Given the description of an element on the screen output the (x, y) to click on. 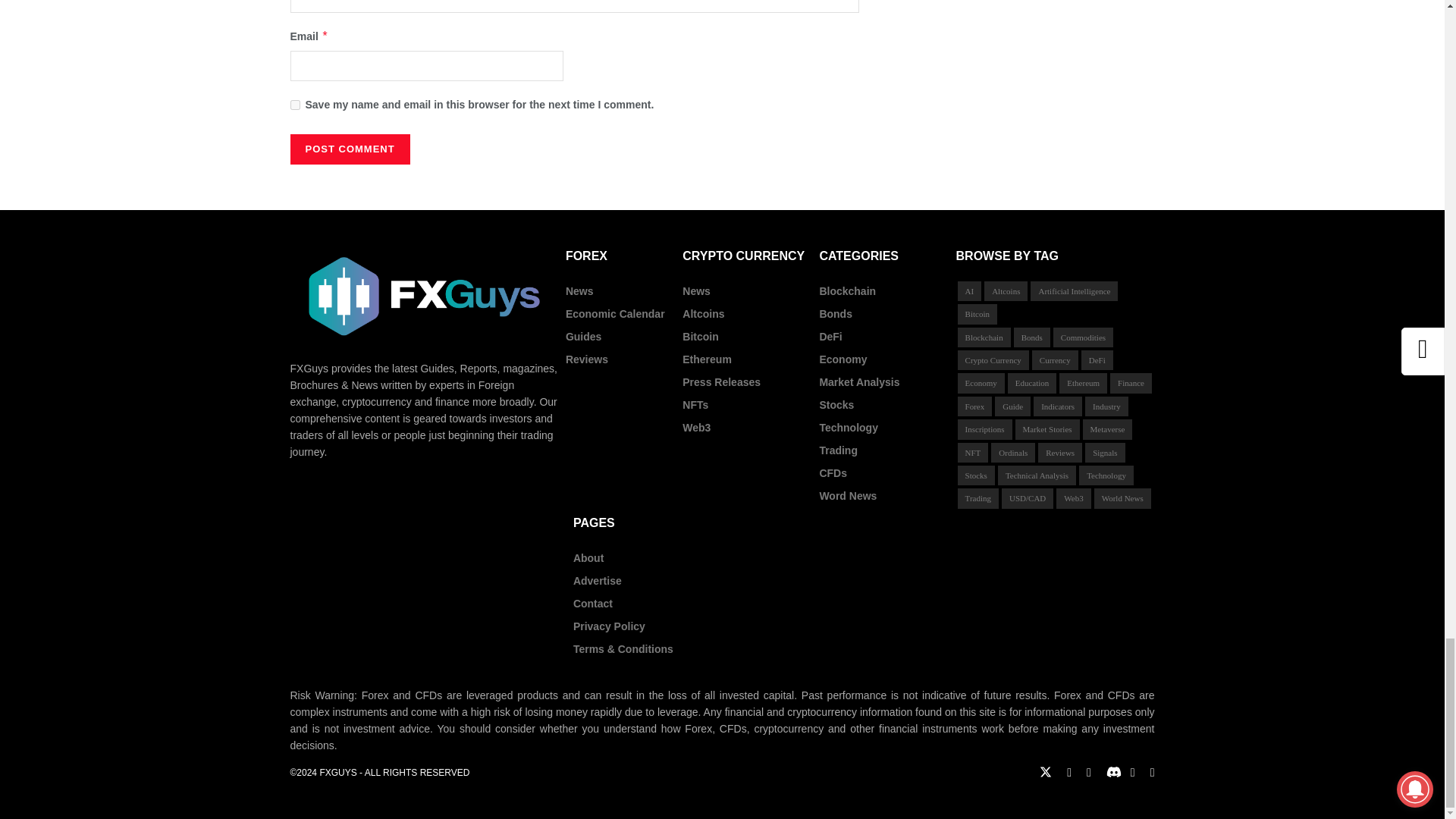
FXGUYS (337, 772)
Post Comment (349, 149)
yes (294, 104)
